Given the description of an element on the screen output the (x, y) to click on. 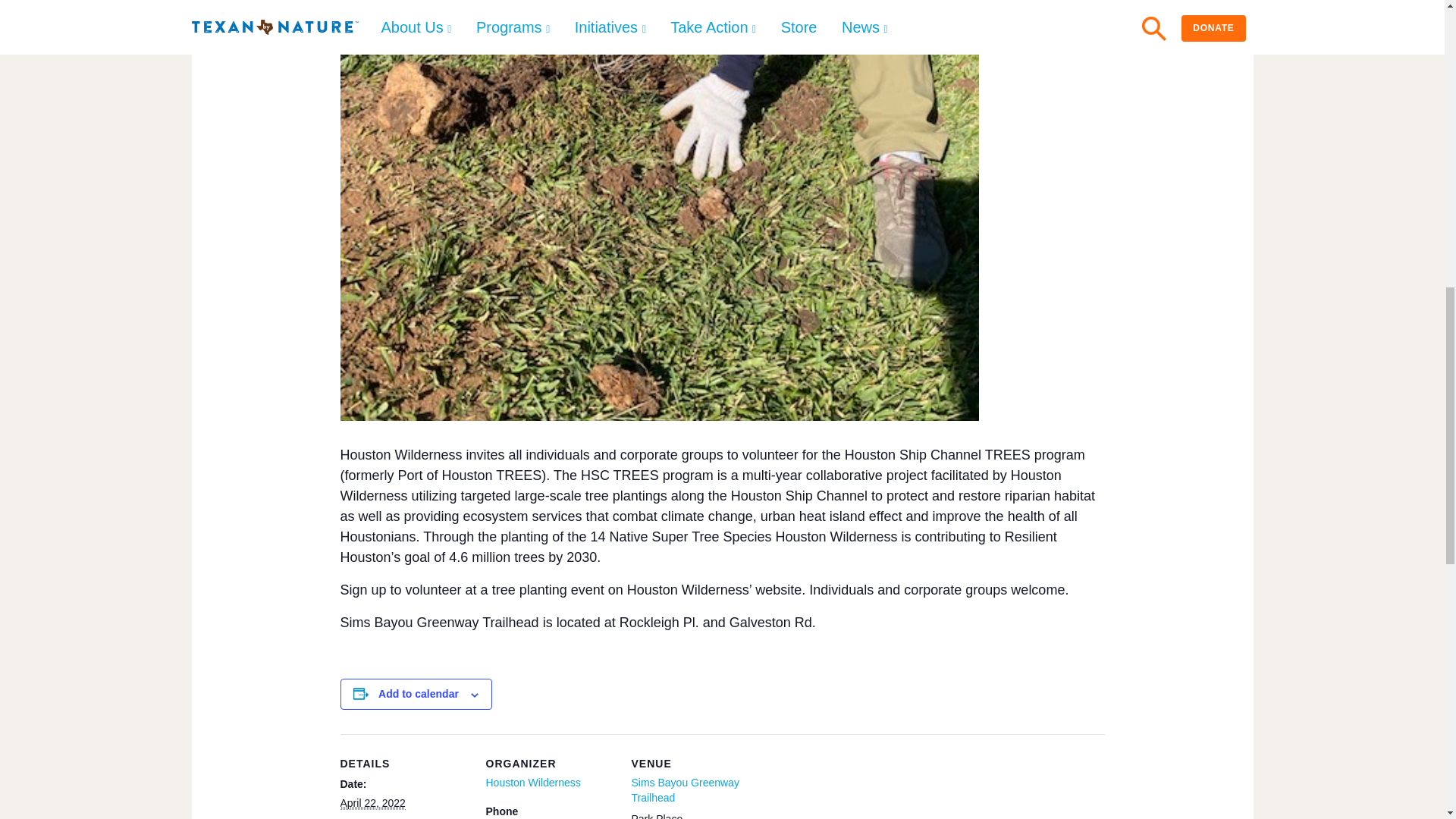
2022-04-22 (371, 802)
Houston Wilderness (531, 782)
